Given the description of an element on the screen output the (x, y) to click on. 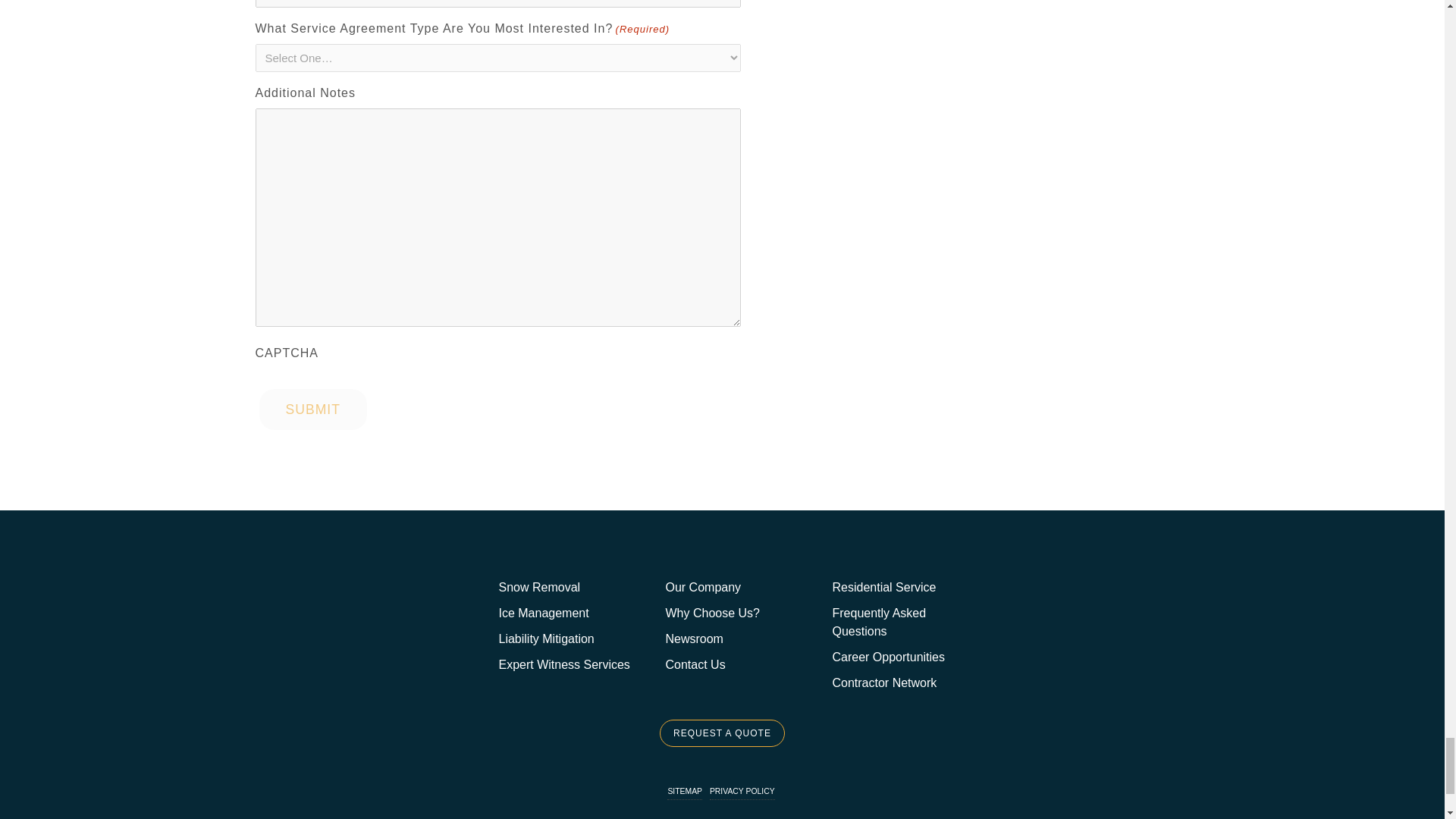
Liability Mitigation (545, 638)
Ice Management (542, 612)
Submit (312, 409)
Snow Removal (538, 586)
Submit (312, 409)
